Given the description of an element on the screen output the (x, y) to click on. 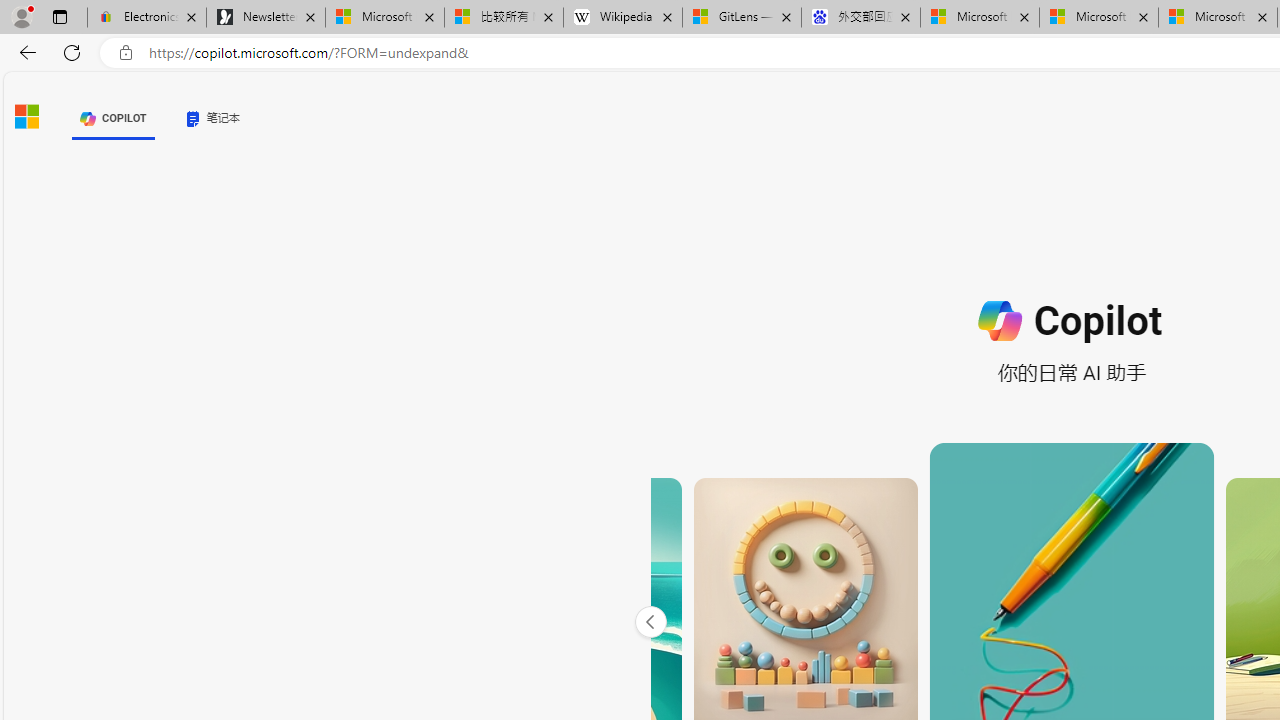
COPILOT (112, 118)
